Given the description of an element on the screen output the (x, y) to click on. 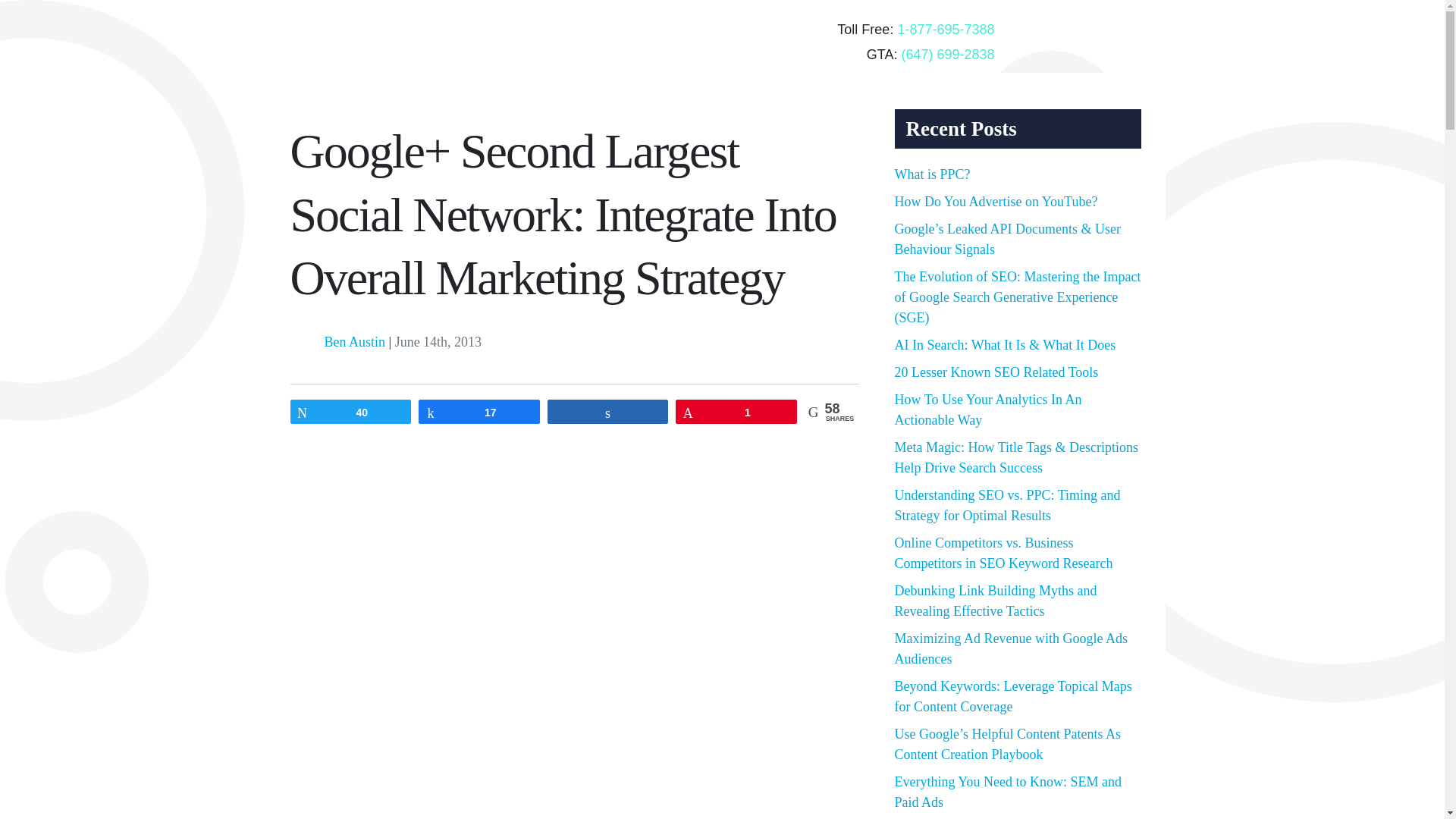
1-877-695-7388 (945, 29)
40 (350, 411)
17 (478, 411)
1 (736, 411)
Ben Austin (354, 341)
